Given the description of an element on the screen output the (x, y) to click on. 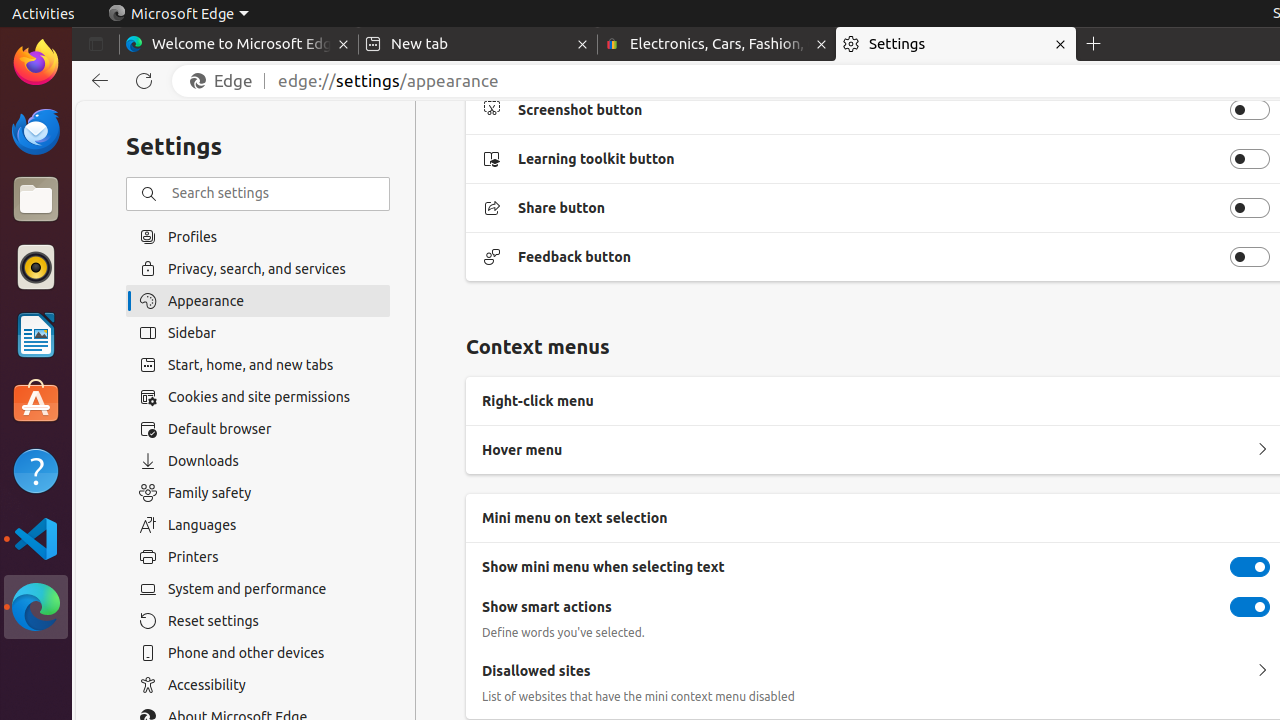
LibreOffice Writer Element type: push-button (36, 334)
Cookies and site permissions Element type: tree-item (258, 397)
Feedback button Element type: check-box (1250, 257)
Accessibility Element type: tree-item (258, 685)
Learning toolkit button Element type: check-box (1250, 159)
